Given the description of an element on the screen output the (x, y) to click on. 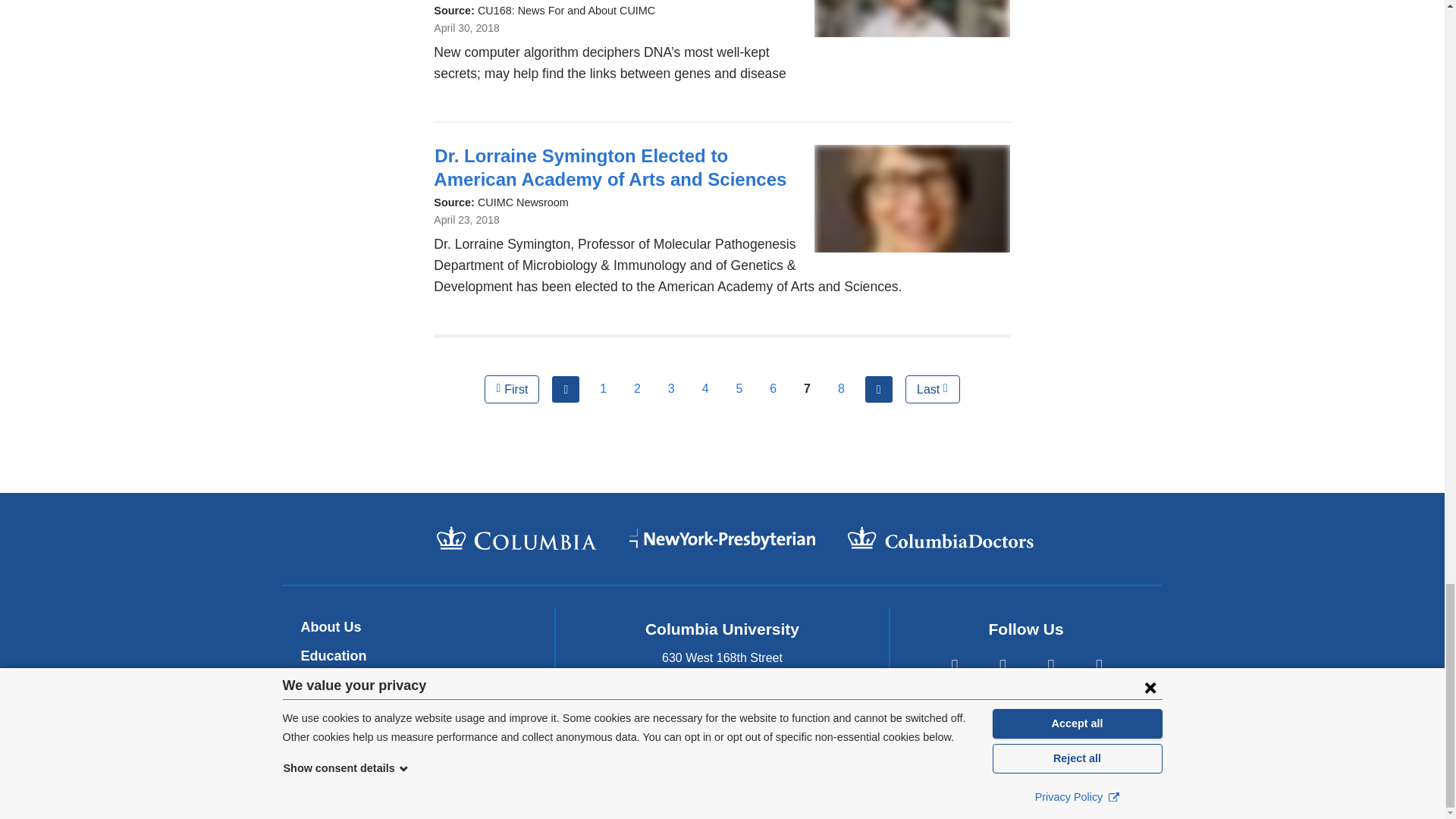
Go to page 2 (637, 389)
Go to page 3 (670, 389)
Go to page 6 (772, 389)
8 (841, 389)
Go to page 4 (704, 389)
First (511, 389)
3 (670, 389)
2 (637, 389)
1 (603, 389)
Columbia University Irving Medical Center (516, 537)
Go to page 5 (739, 389)
6 (772, 389)
Go to page 8 (841, 389)
5 (739, 389)
4 (704, 389)
